Given the description of an element on the screen output the (x, y) to click on. 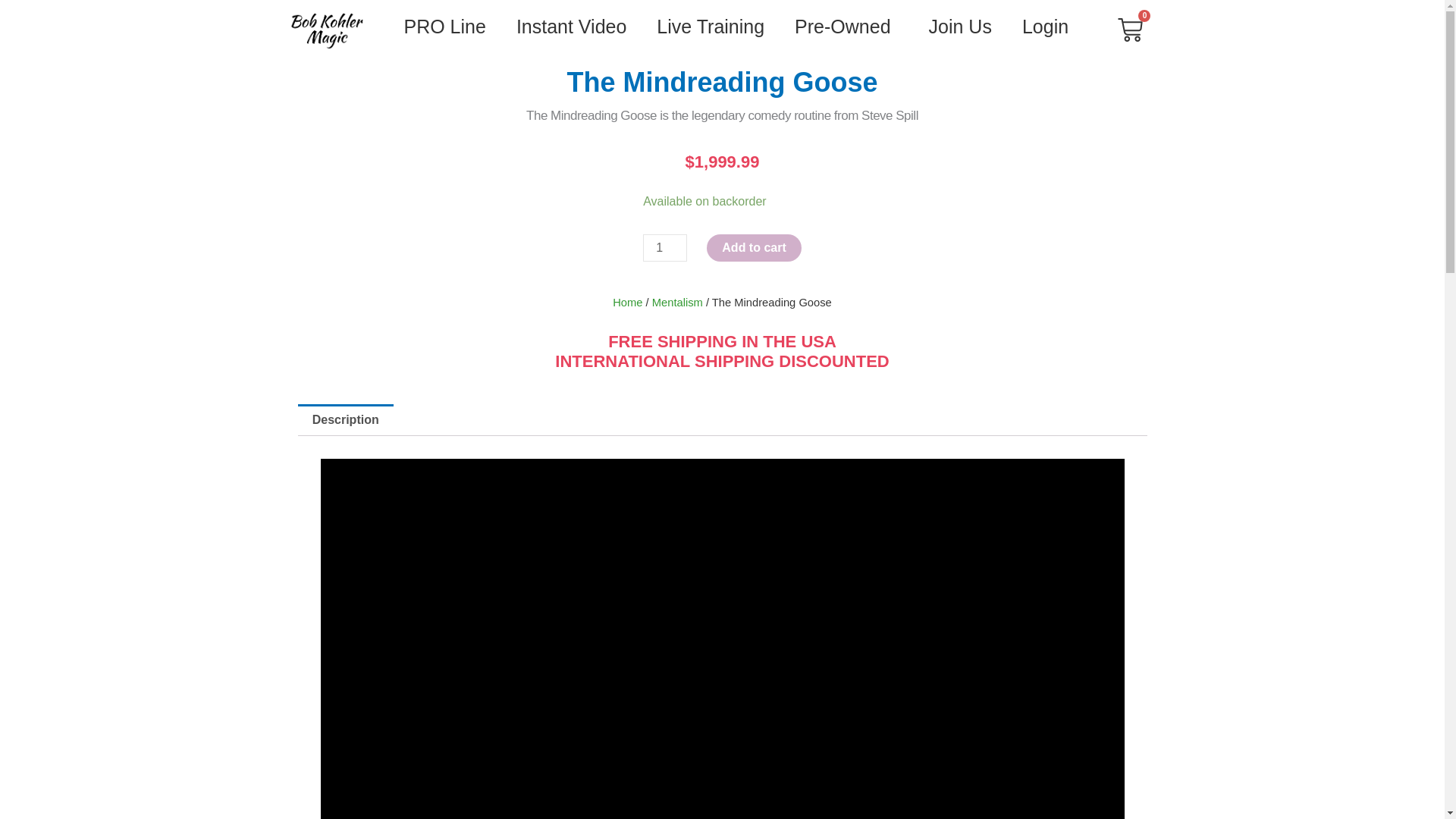
1 (665, 247)
Pre-Owned (845, 26)
PRO Line (444, 26)
Live Training (1130, 29)
Join Us (710, 26)
PayPal (960, 26)
Instant Video (722, 282)
Login (571, 26)
vimeo Video Player (1045, 26)
